Given the description of an element on the screen output the (x, y) to click on. 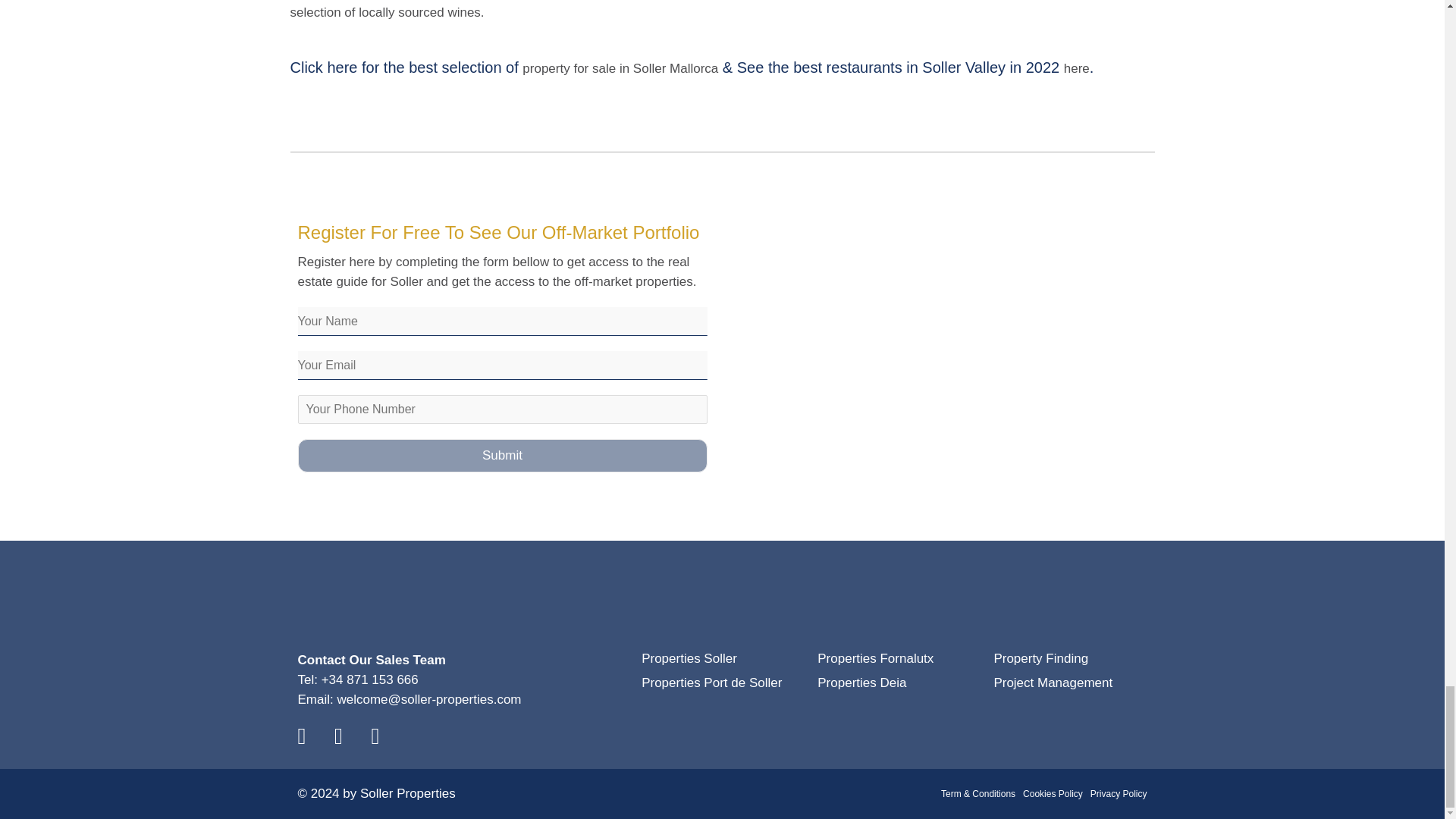
property for sale in Soller Mallorca (619, 68)
here (1076, 68)
Submit (501, 455)
